Given the description of an element on the screen output the (x, y) to click on. 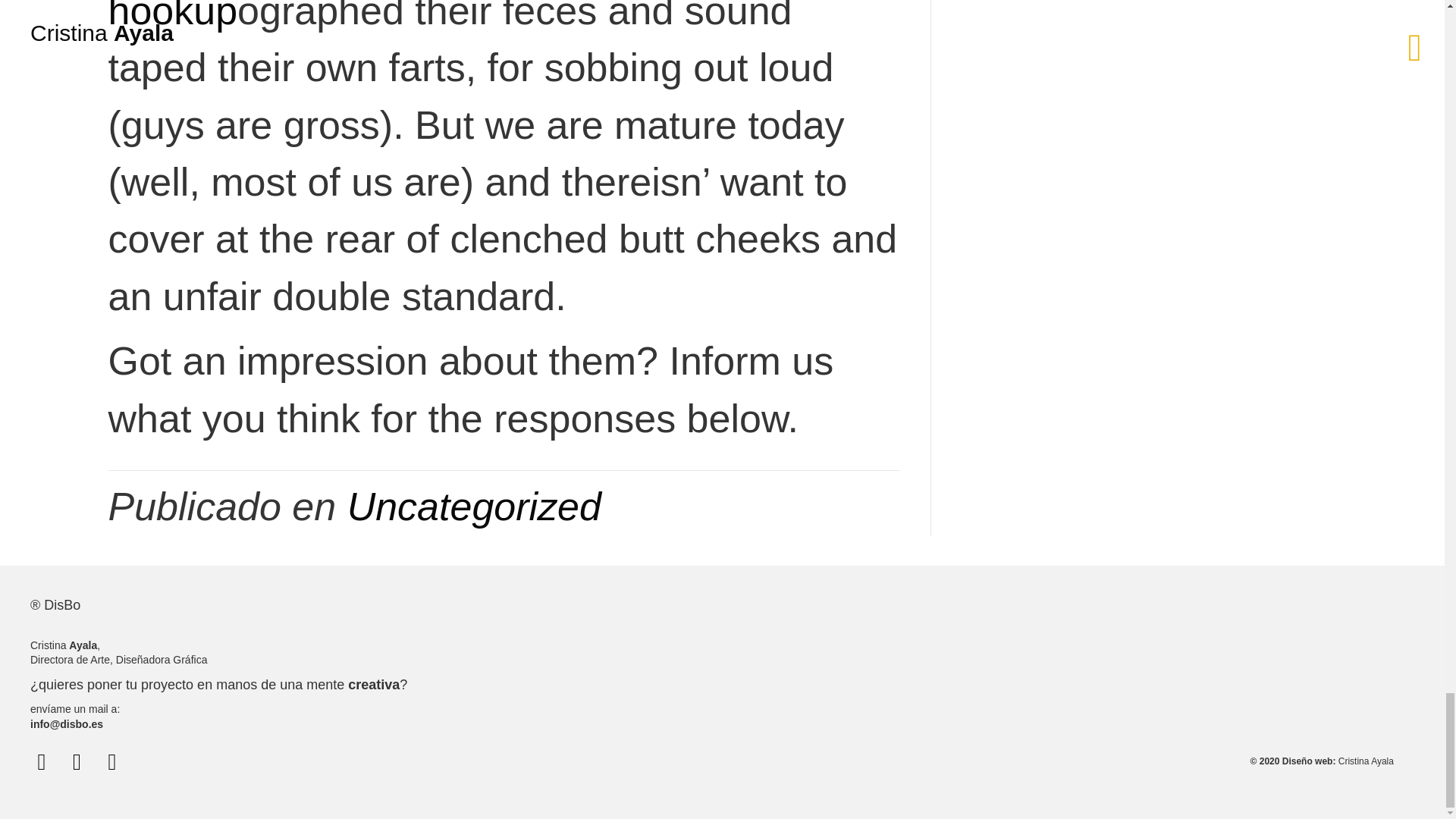
Instagram (76, 762)
Uncategorized (474, 506)
Vimeo (41, 762)
hot milf hookup (458, 15)
LinkedIn (111, 762)
